Given the description of an element on the screen output the (x, y) to click on. 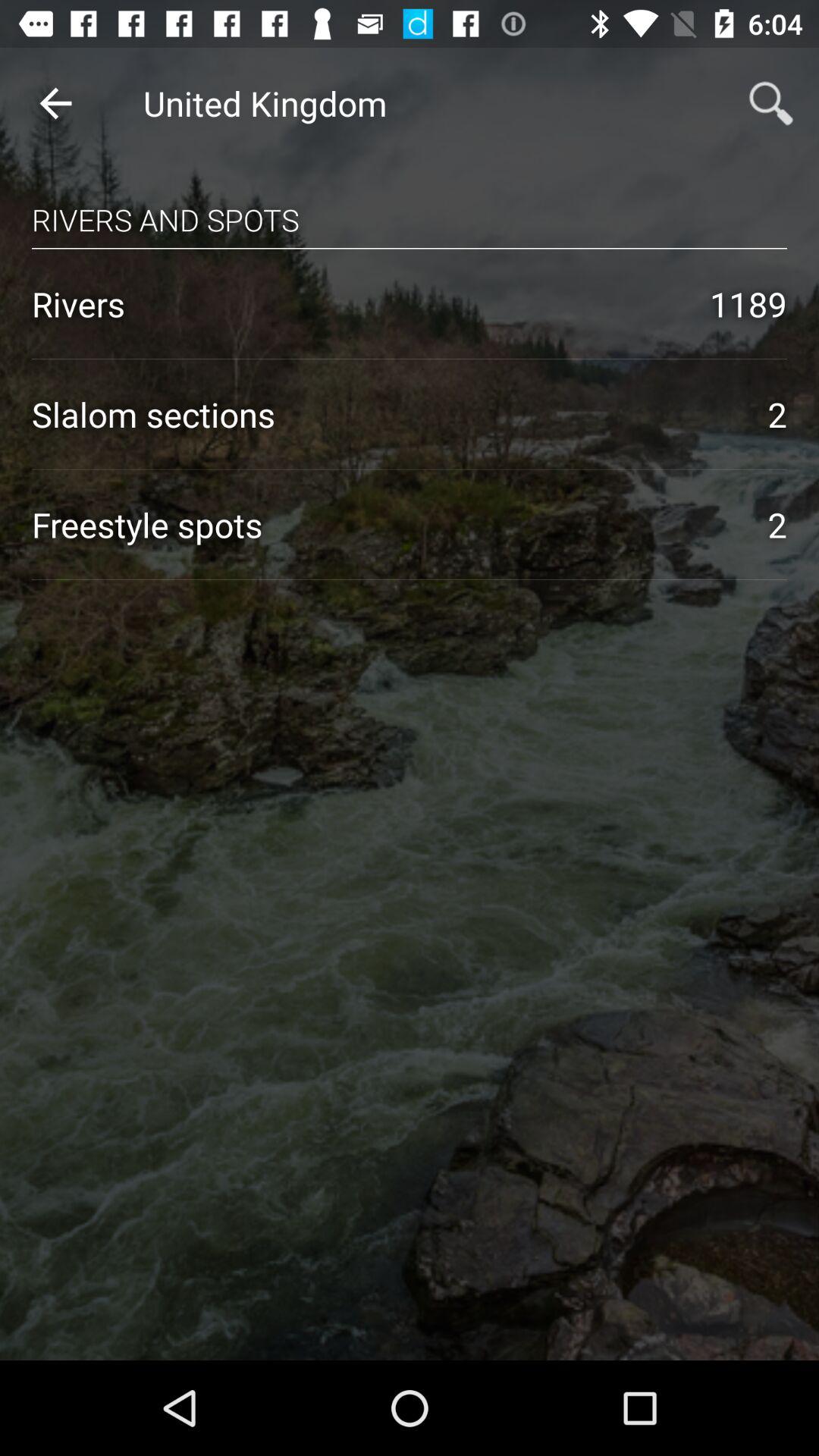
jump until the 1189 item (748, 303)
